Given the description of an element on the screen output the (x, y) to click on. 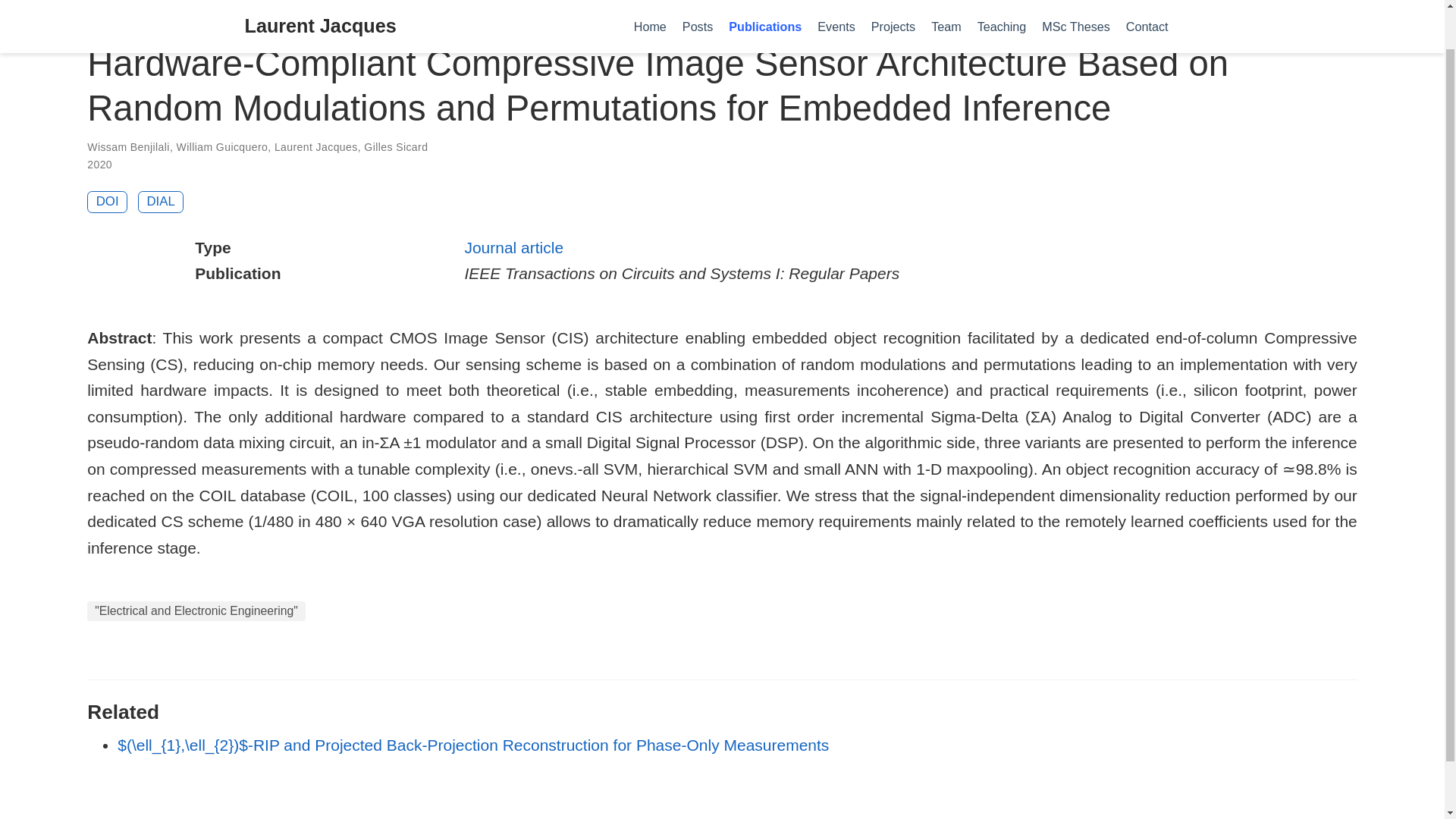
William Guicquero (221, 146)
Wissam Benjilali (128, 146)
DOI (107, 201)
"Electrical and Electronic Engineering" (196, 610)
DIAL (160, 201)
Gilles Sicard (396, 146)
Laurent Jacques (316, 146)
Journal article (513, 247)
